Given the description of an element on the screen output the (x, y) to click on. 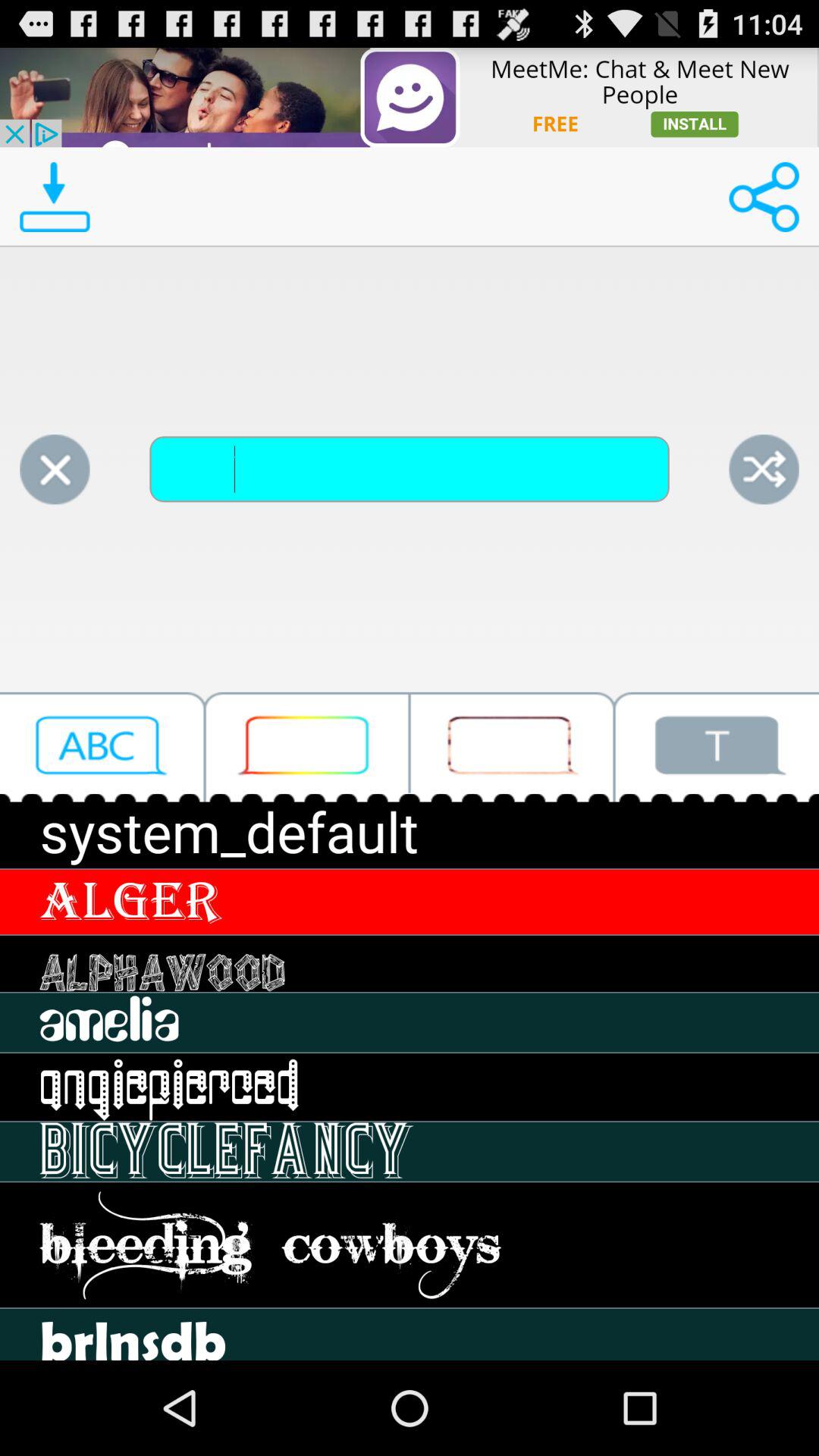
click type box (306, 746)
